Given the description of an element on the screen output the (x, y) to click on. 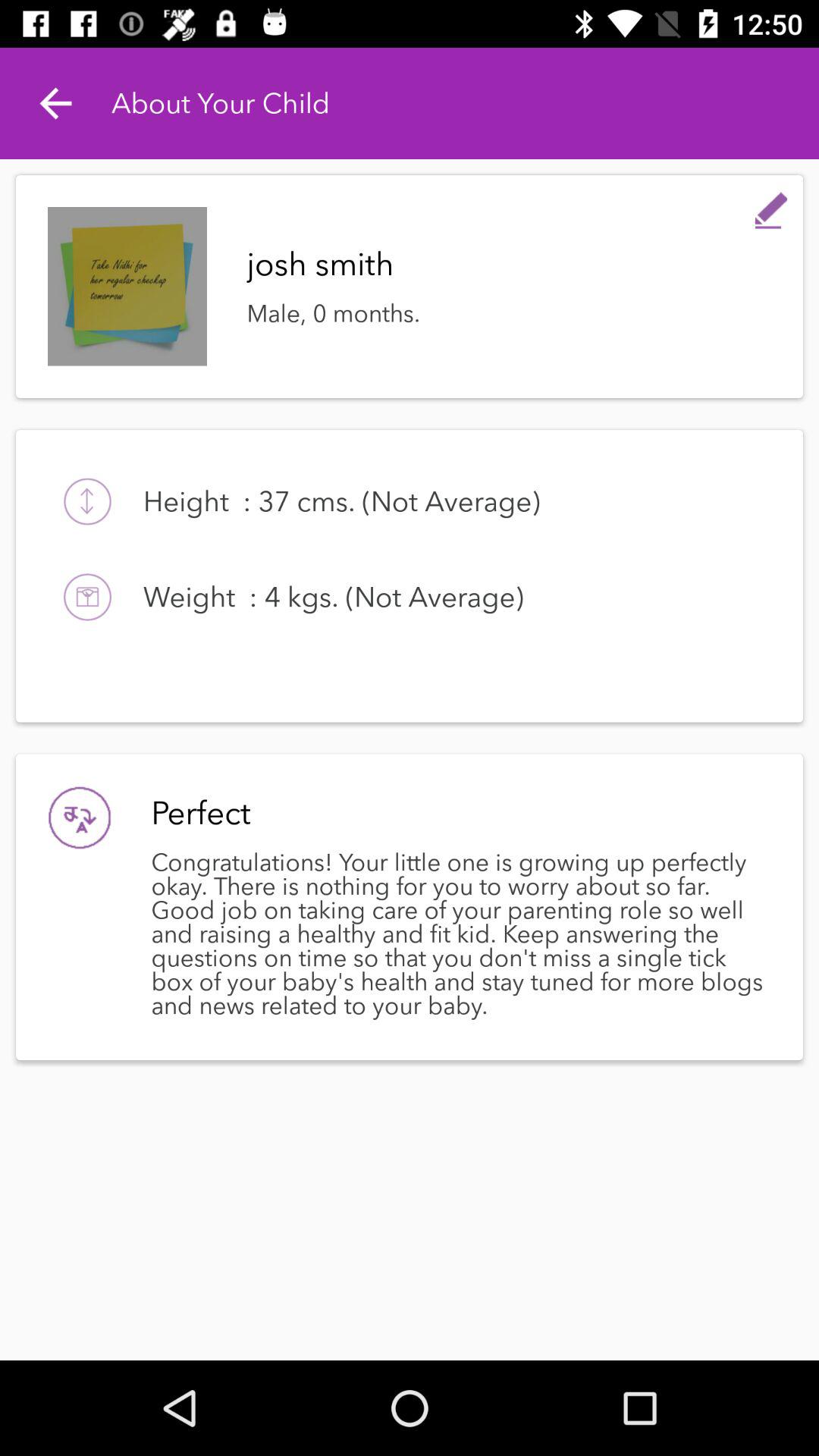
edit (771, 206)
